Given the description of an element on the screen output the (x, y) to click on. 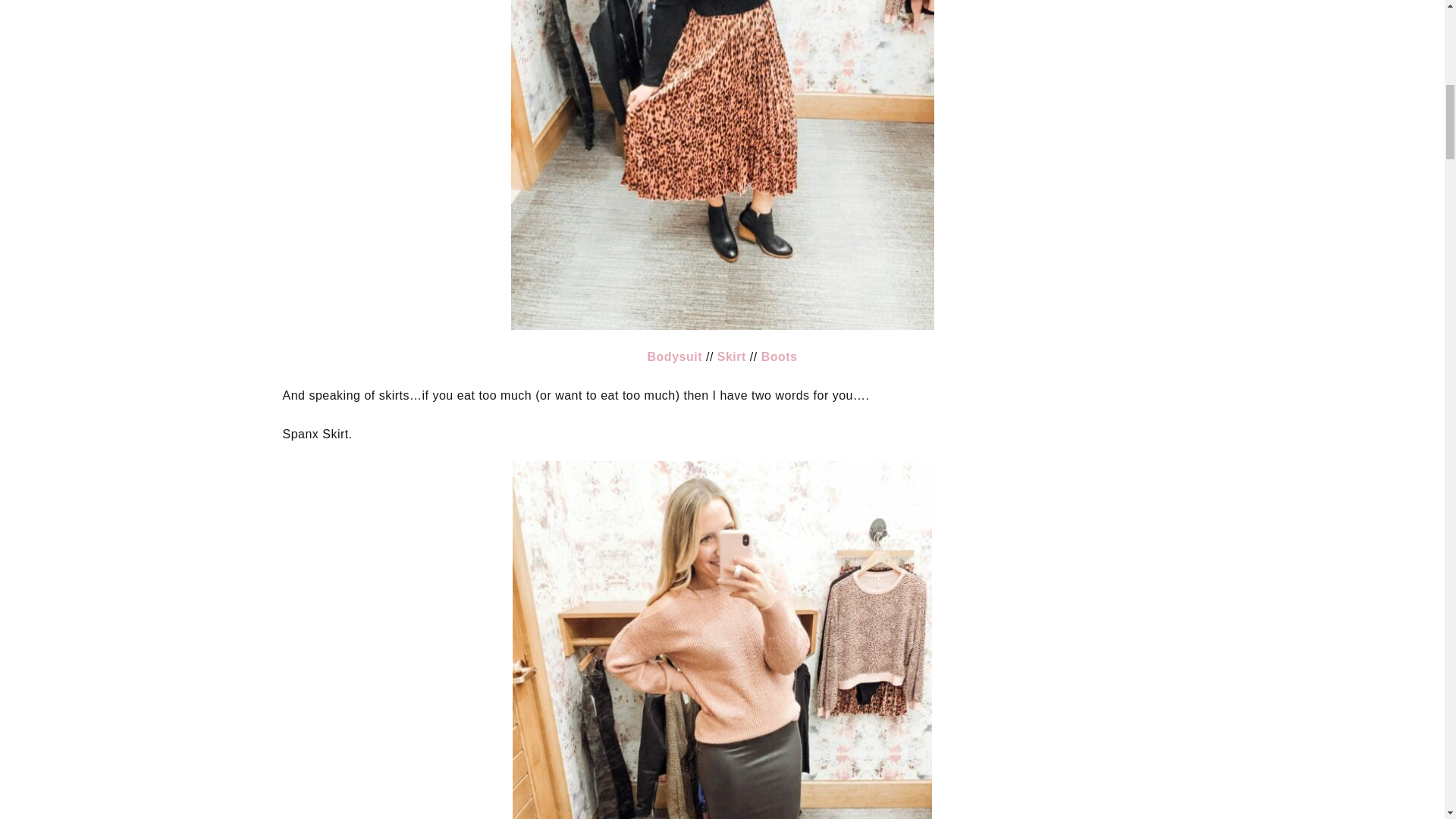
Bodysuit (674, 356)
Boots (779, 356)
Skirt (731, 356)
